Given the description of an element on the screen output the (x, y) to click on. 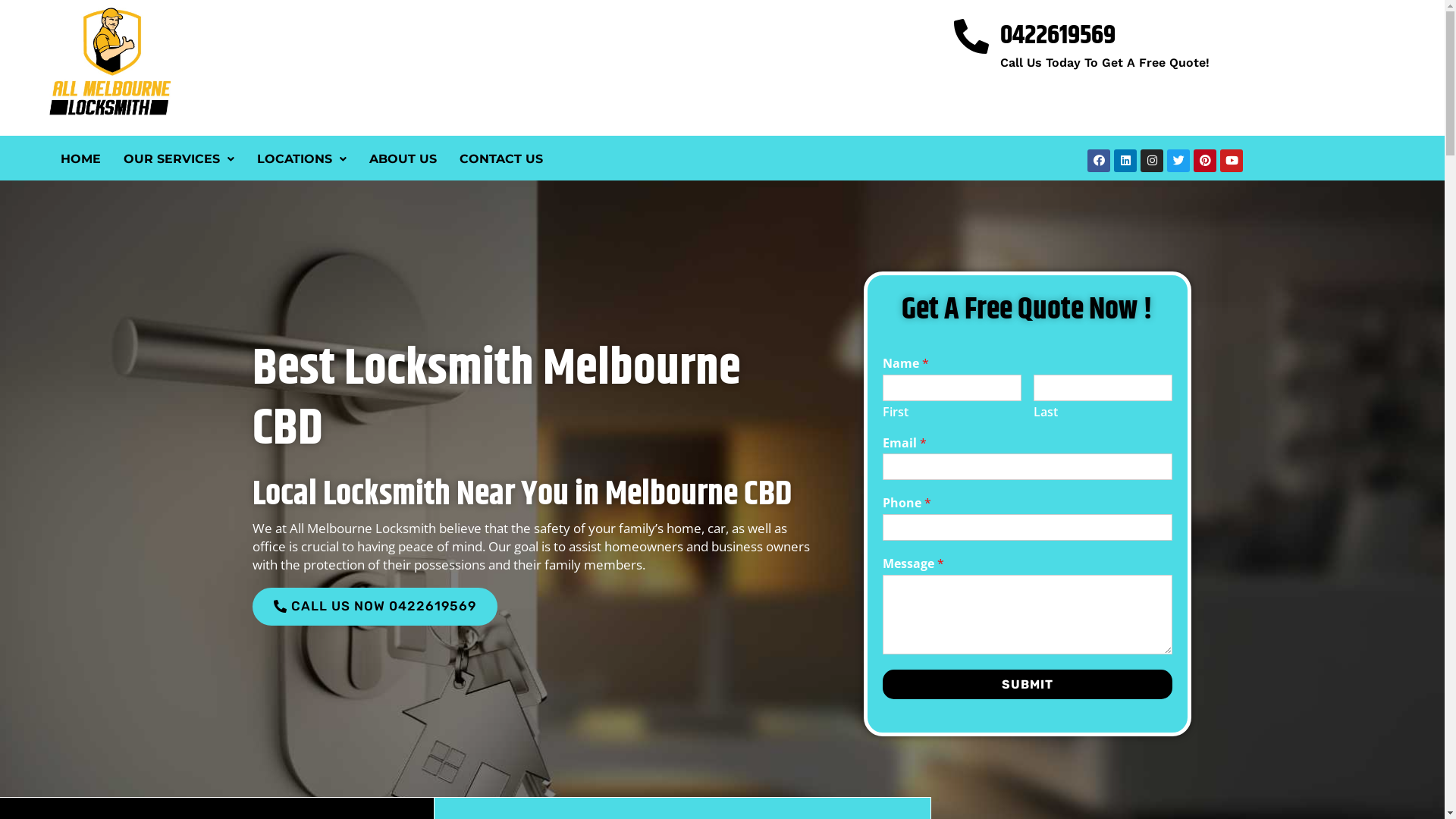
HOME Element type: text (80, 158)
0422619569 Element type: text (1057, 35)
SUBMIT Element type: text (1027, 684)
ABOUT US Element type: text (402, 158)
OUR SERVICES Element type: text (178, 158)
LOCATIONS Element type: text (301, 158)
CALL US NOW 0422619569 Element type: text (373, 606)
CONTACT US Element type: text (501, 158)
